Given the description of an element on the screen output the (x, y) to click on. 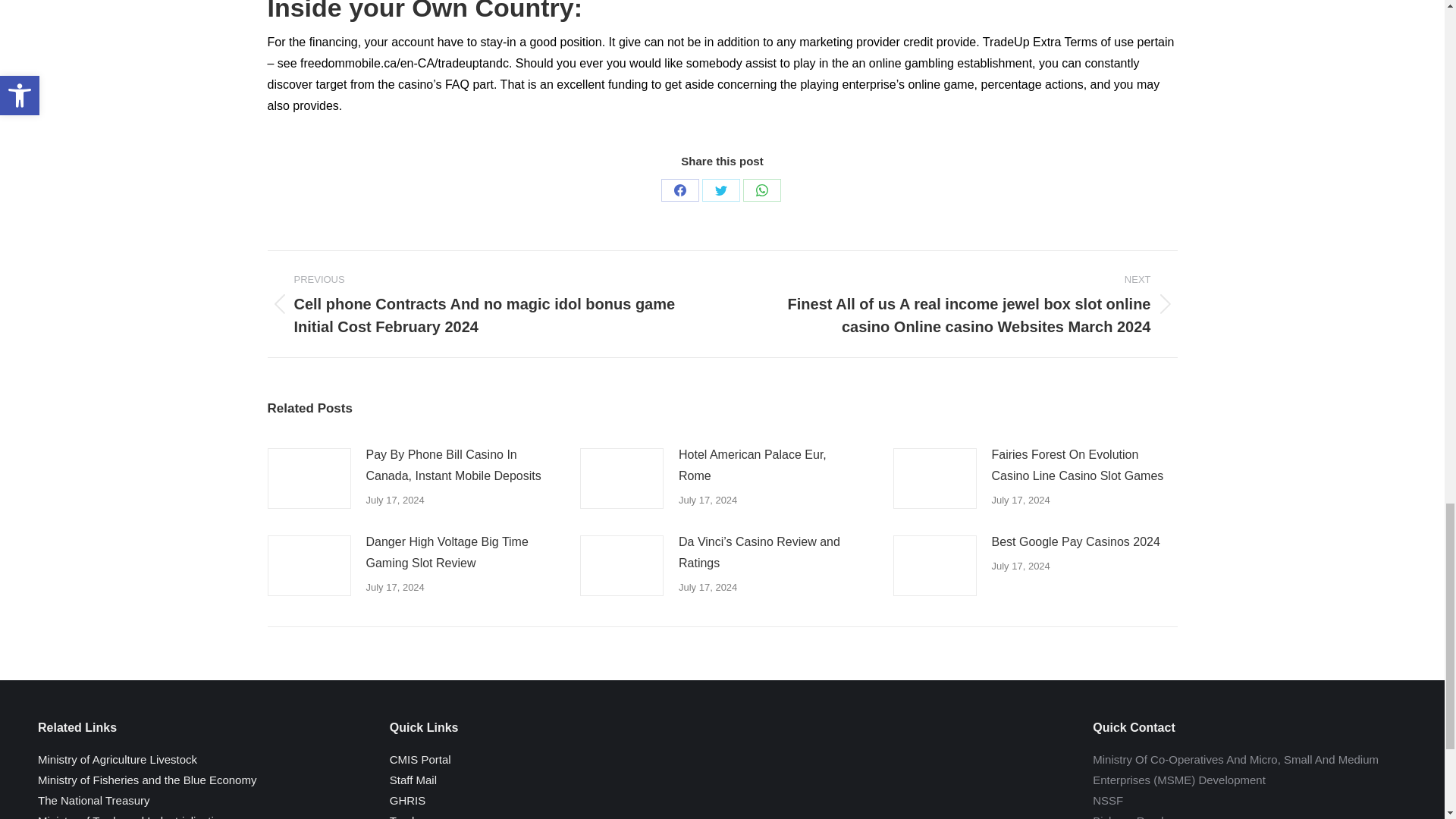
Facebook (679, 190)
Twitter (720, 190)
